Given the description of an element on the screen output the (x, y) to click on. 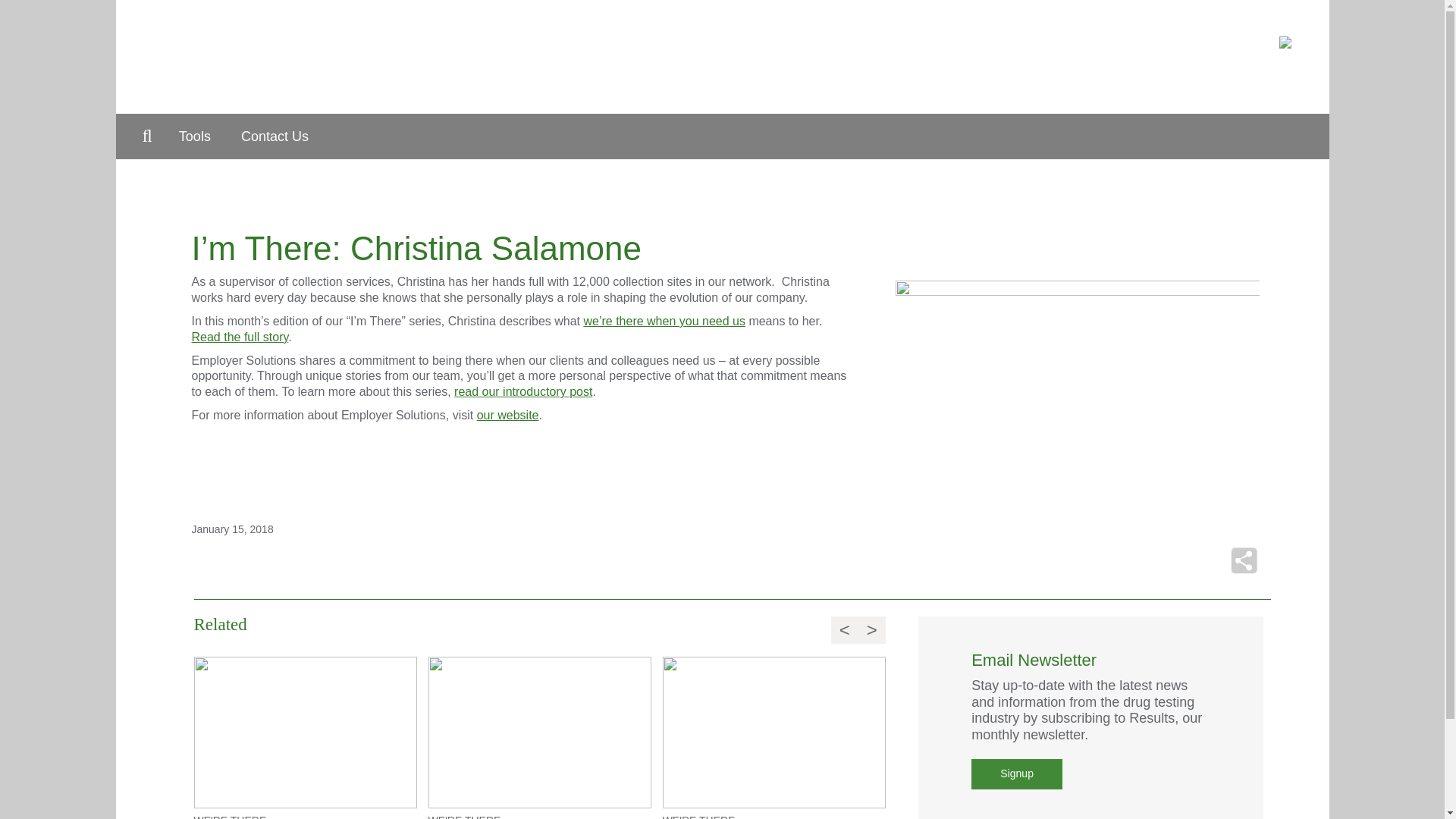
read our introductory post (523, 391)
Tools (194, 136)
Read the full story (239, 336)
our website (507, 414)
Quest Diagnostics Workforce Health Solutions Blog (520, 56)
Contact Us (275, 136)
